Given the description of an element on the screen output the (x, y) to click on. 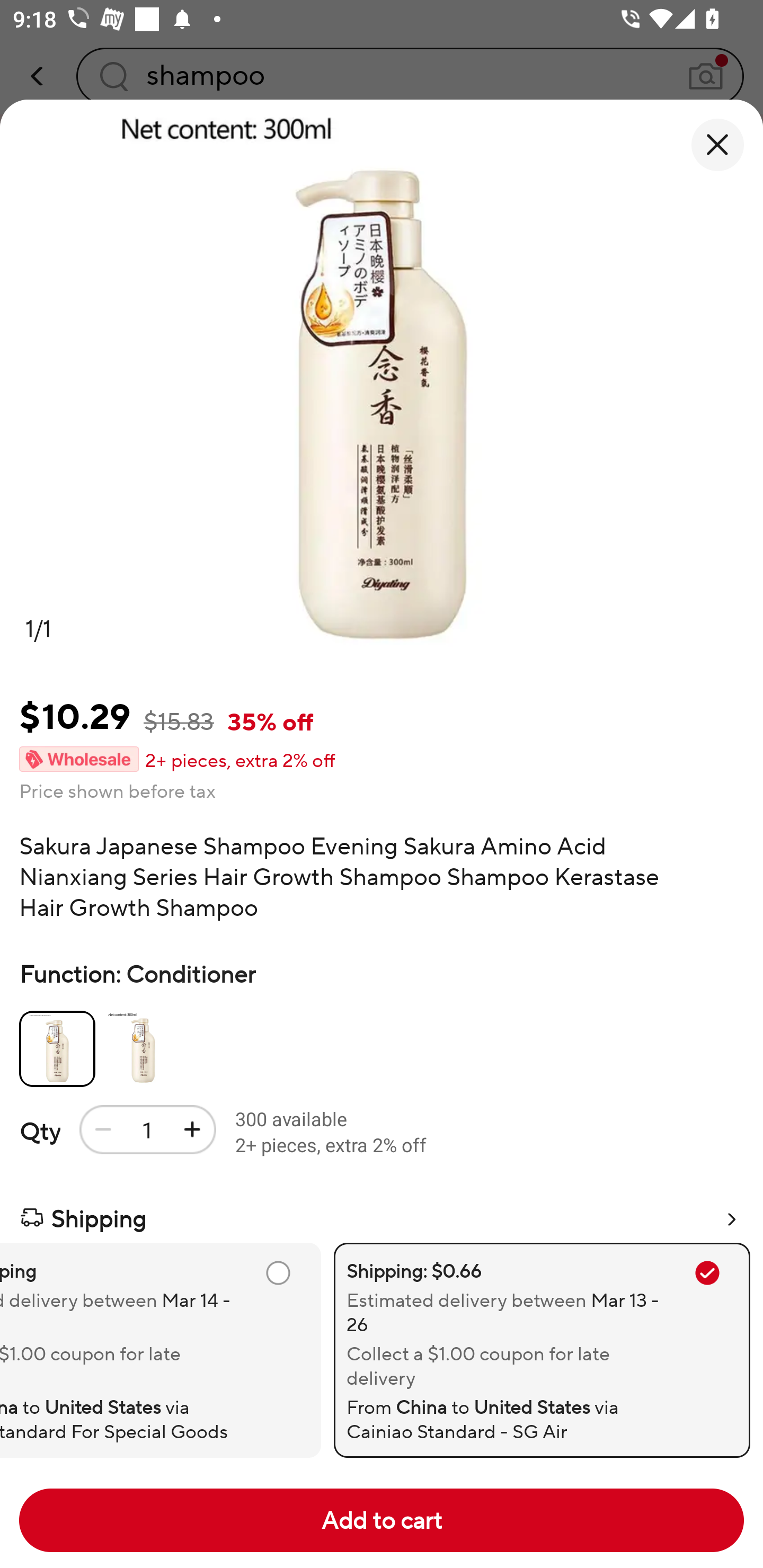
close  (717, 144)
Add to cart (381, 1520)
